Given the description of an element on the screen output the (x, y) to click on. 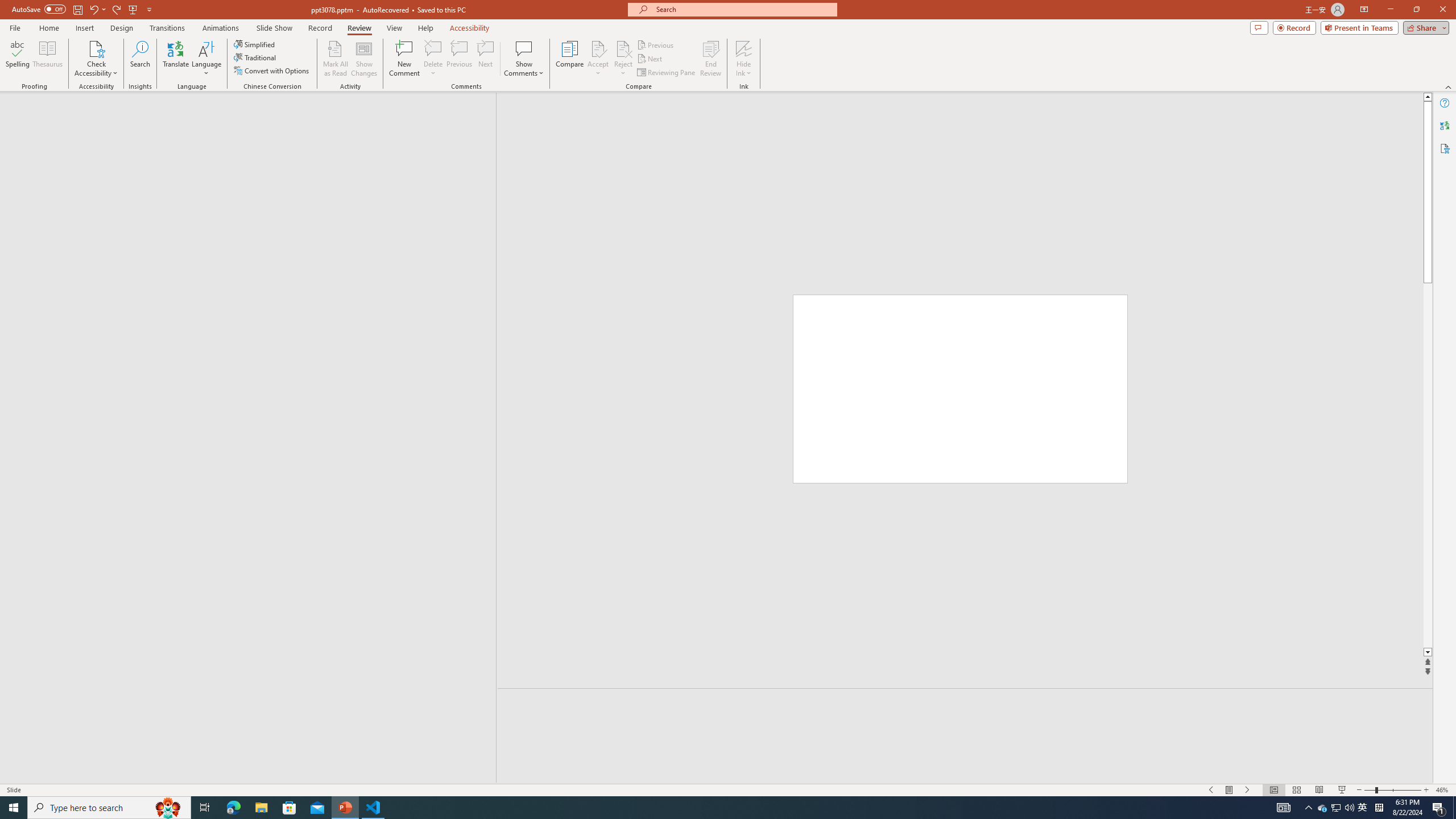
Line down (1427, 652)
Search (140, 58)
Slide Show Previous On (1211, 790)
Show Comments (524, 48)
Convert with Options... (272, 69)
